Given the description of an element on the screen output the (x, y) to click on. 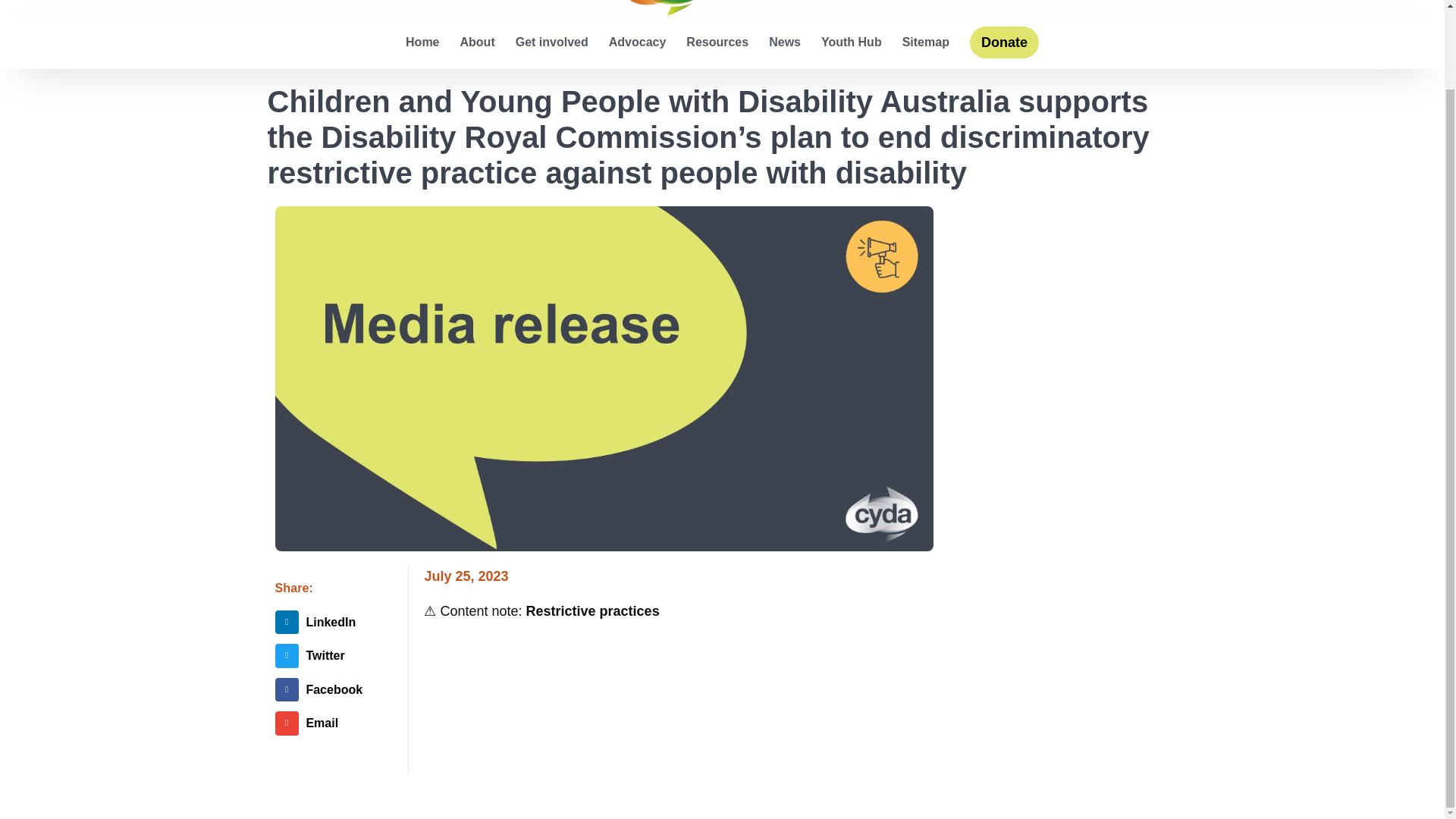
About (477, 42)
Youth Hub (851, 42)
Advocacy (637, 42)
Sitemap (925, 42)
Get involved (551, 42)
Resources (716, 42)
